Given the description of an element on the screen output the (x, y) to click on. 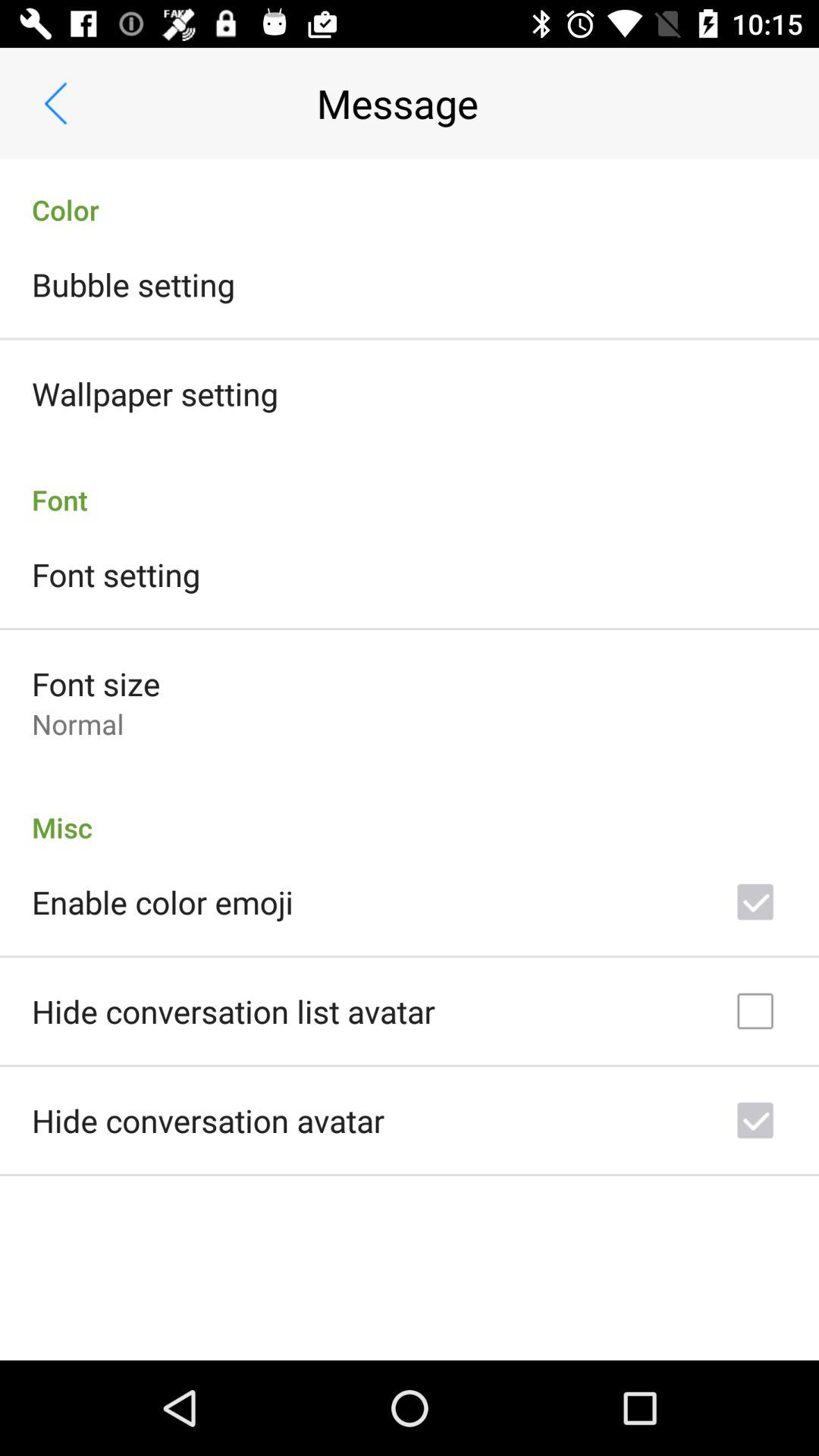
jump until normal icon (77, 723)
